Given the description of an element on the screen output the (x, y) to click on. 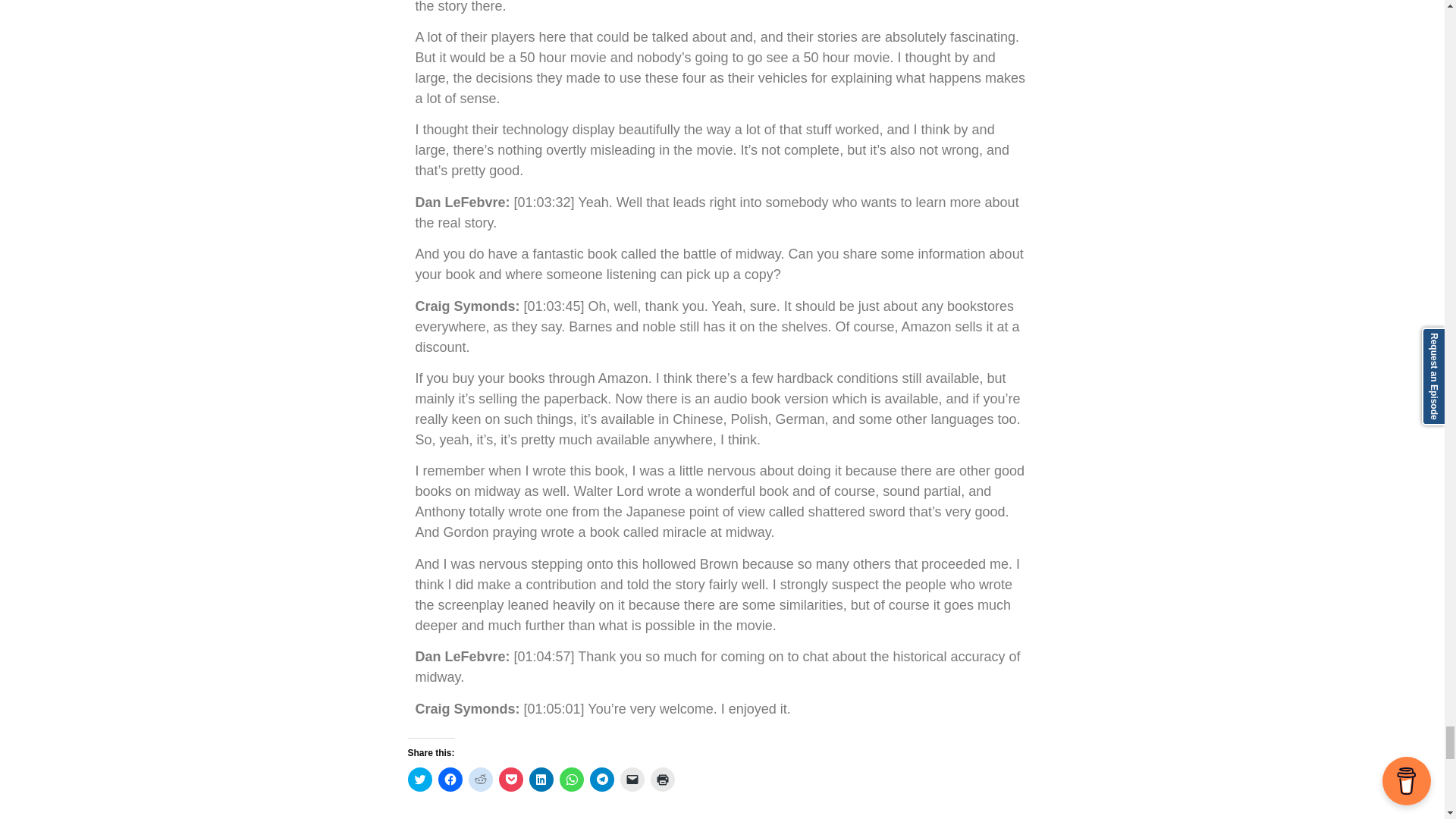
Click to share on Telegram (601, 779)
Click to share on Pocket (510, 779)
Click to print (662, 779)
Click to share on Reddit (480, 779)
Click to share on Twitter (419, 779)
Click to share on LinkedIn (541, 779)
Click to share on WhatsApp (571, 779)
Click to email a link to a friend (632, 779)
Click to share on Facebook (450, 779)
